Given the description of an element on the screen output the (x, y) to click on. 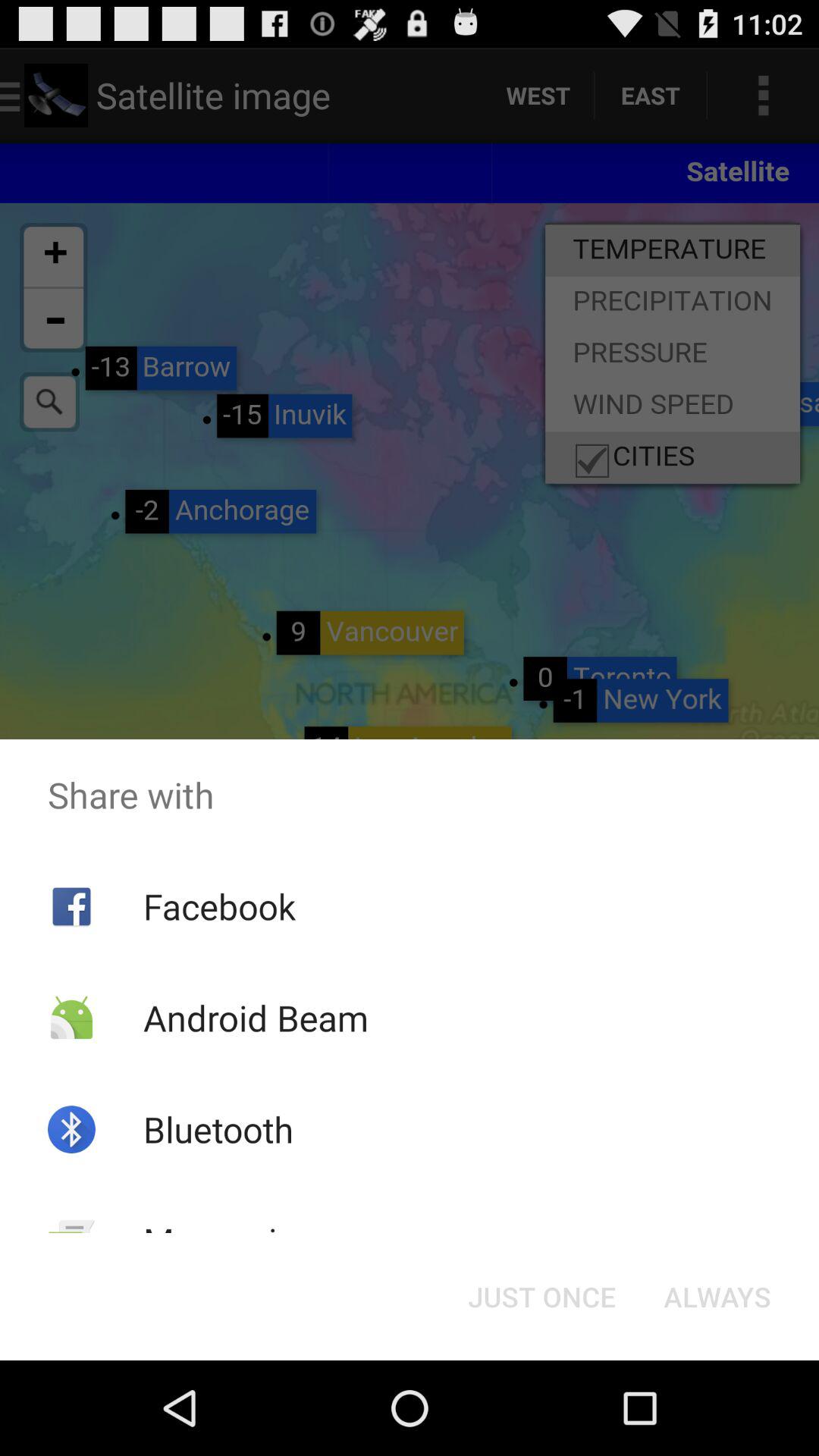
turn off icon at the bottom right corner (717, 1296)
